Given the description of an element on the screen output the (x, y) to click on. 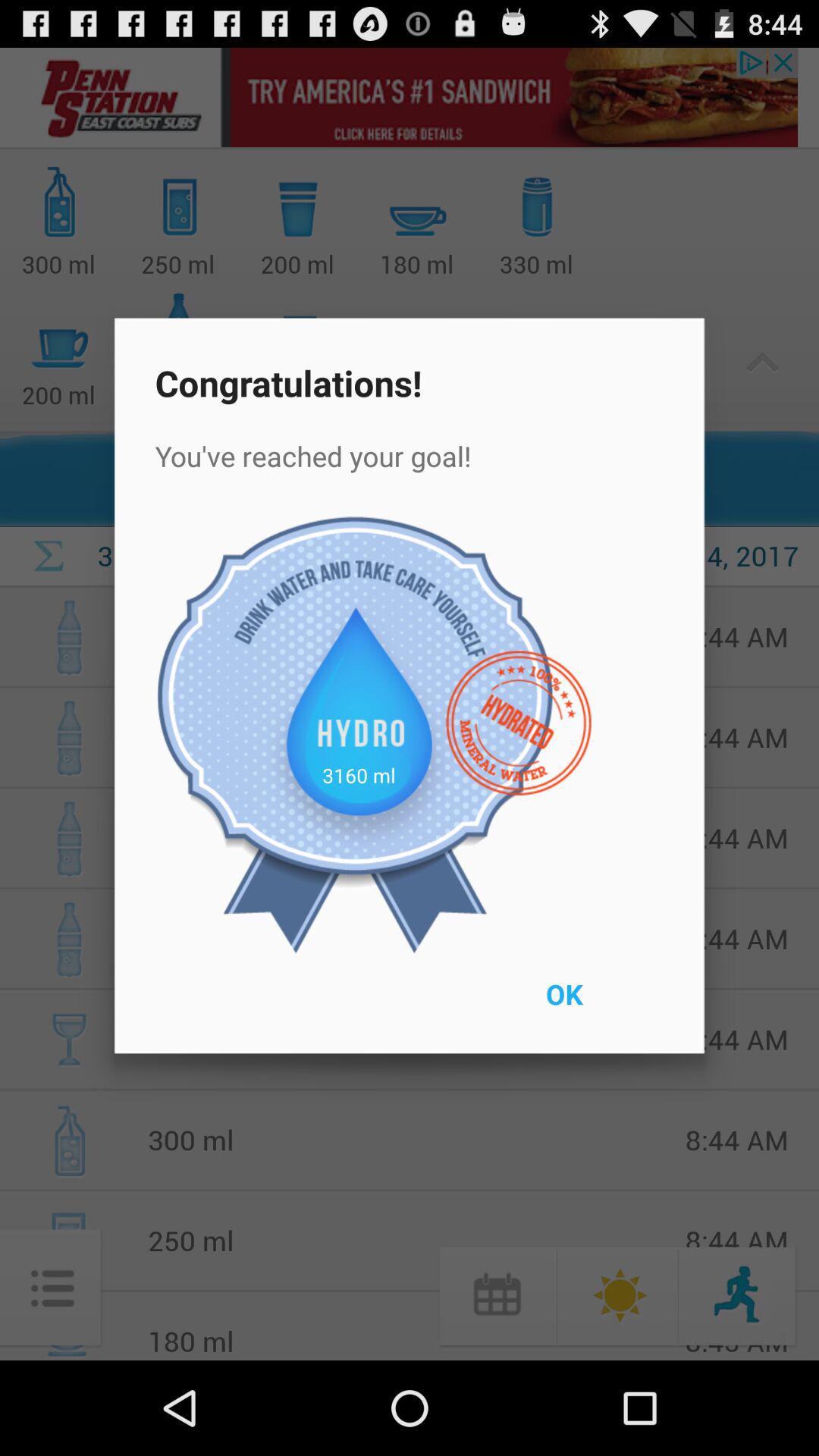
scroll to the ok icon (599, 1003)
